Given the description of an element on the screen output the (x, y) to click on. 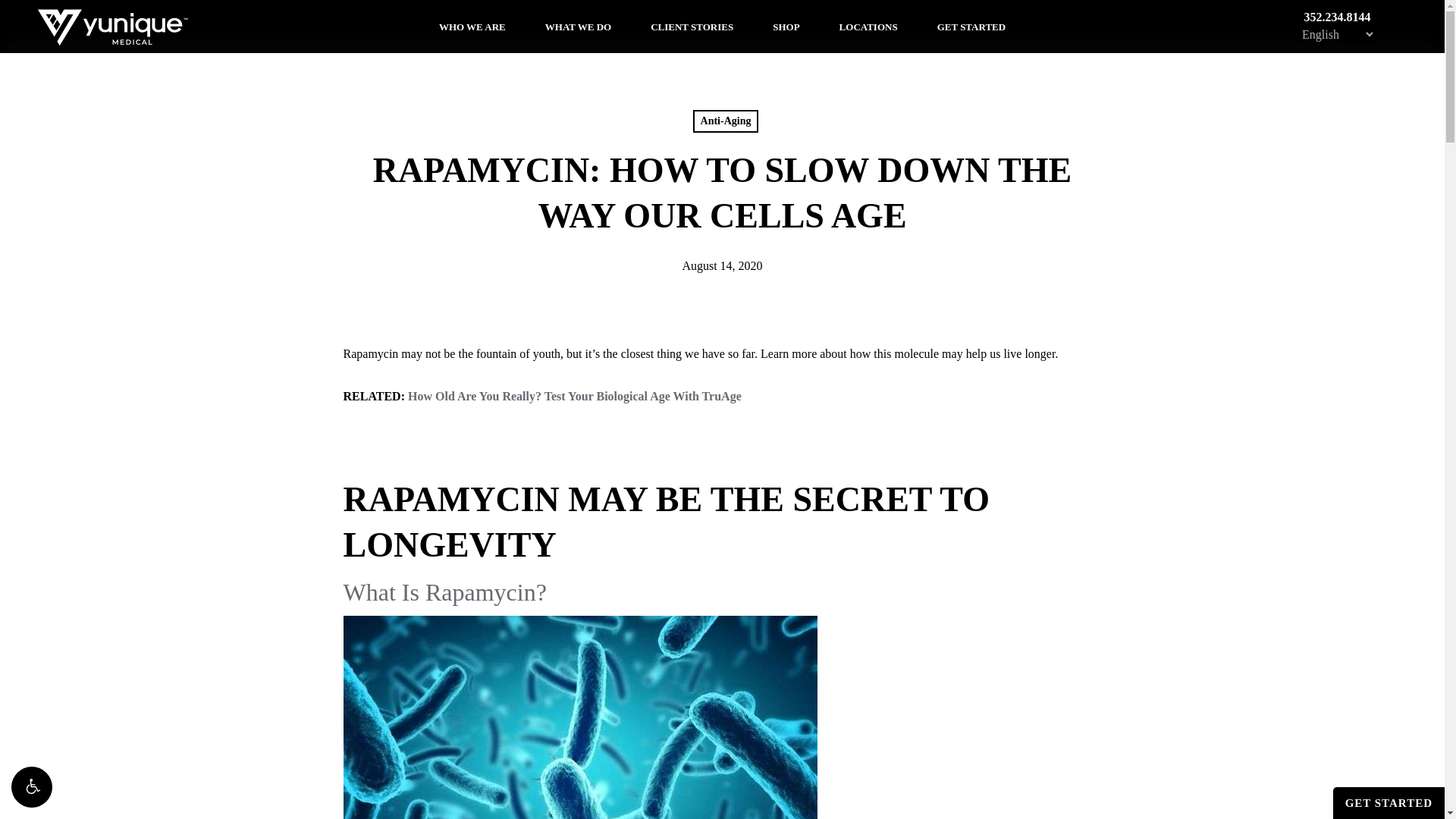
SHOP (785, 26)
WHO WE ARE (472, 26)
CLIENT STORIES (691, 26)
WHAT WE DO (577, 26)
